Given the description of an element on the screen output the (x, y) to click on. 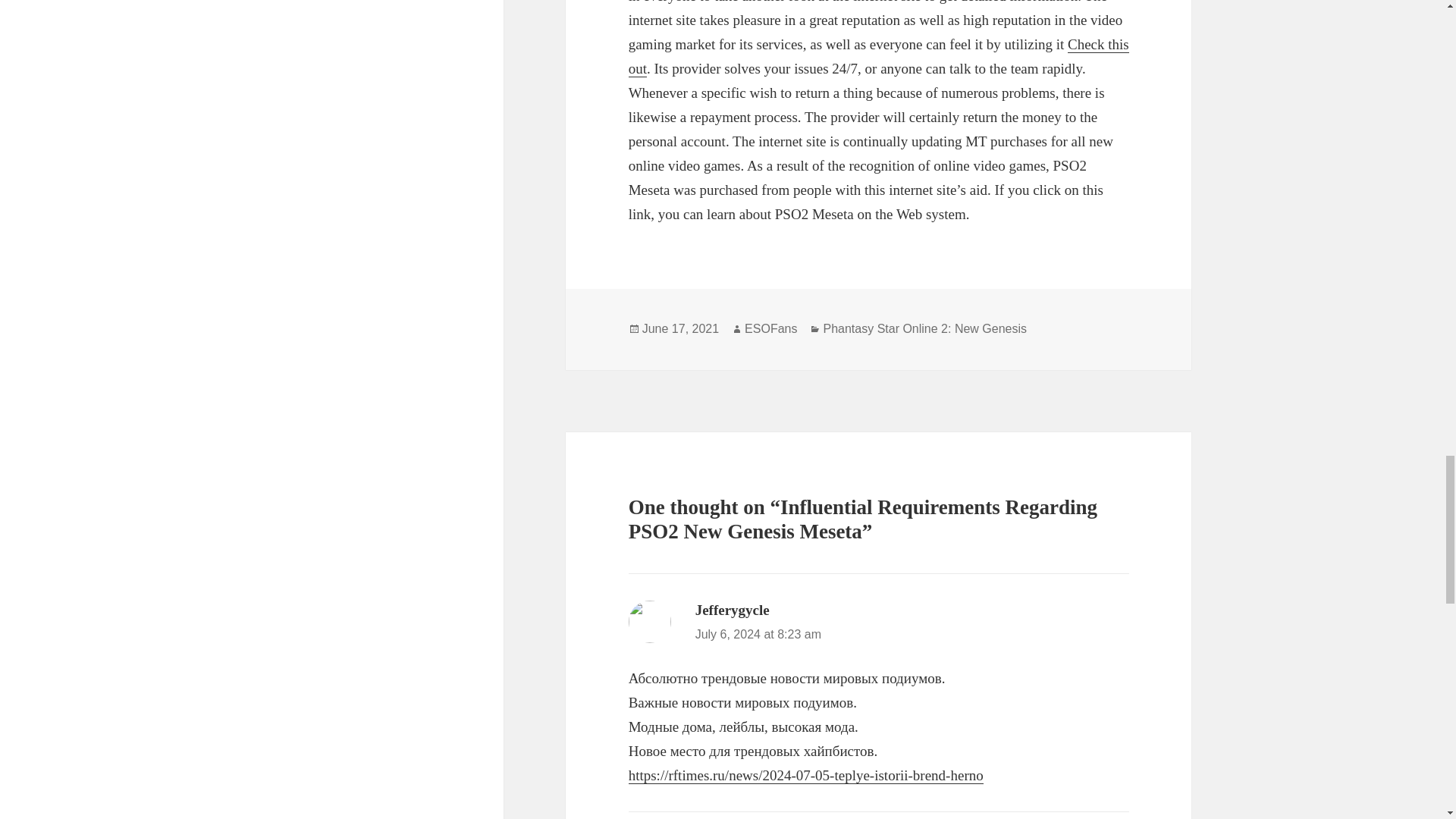
Check this out (878, 56)
